Given the description of an element on the screen output the (x, y) to click on. 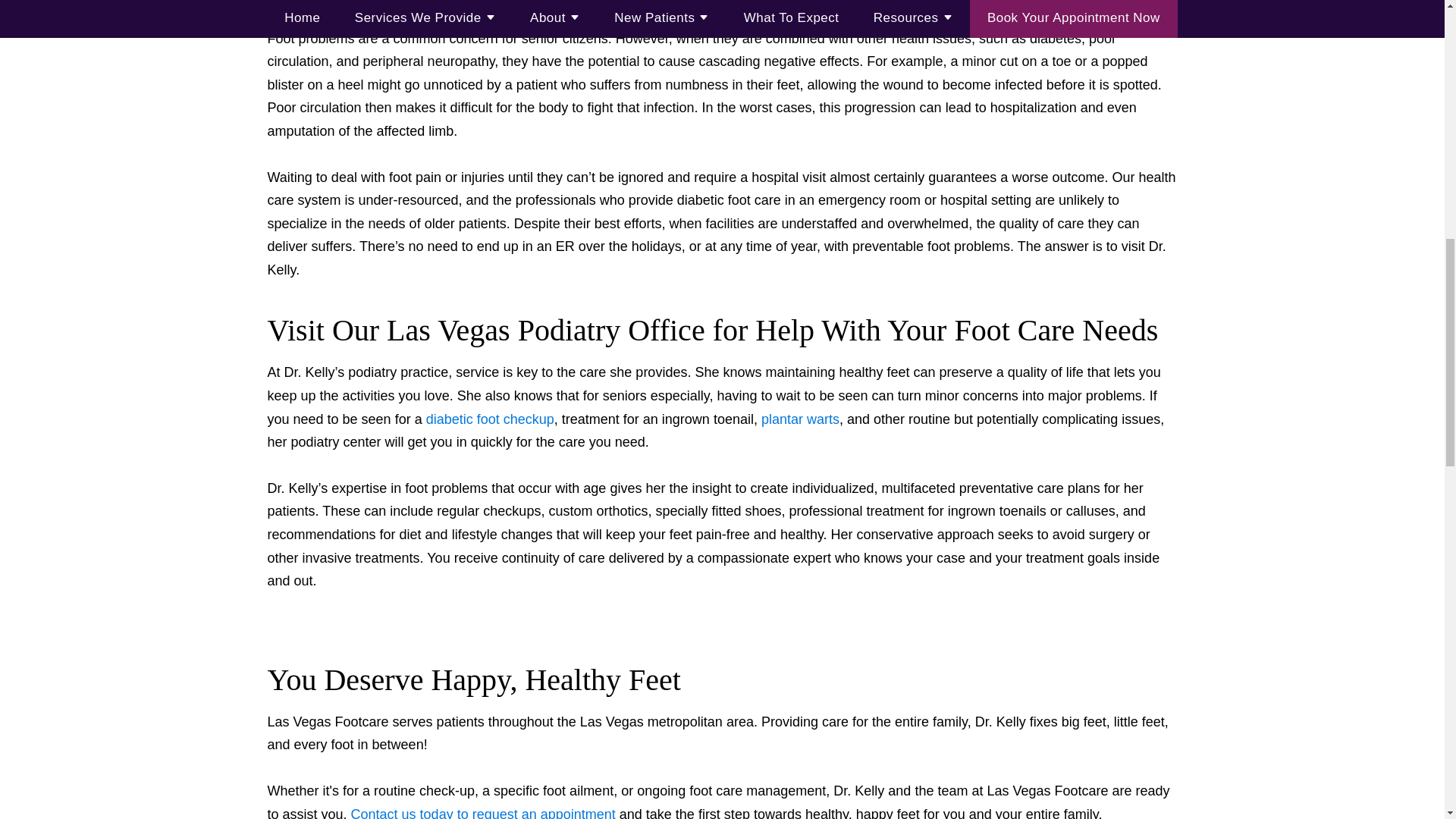
plantar warts (800, 418)
diabetic foot checkup (490, 418)
Contact us today to request an appointment (482, 812)
